Given the description of an element on the screen output the (x, y) to click on. 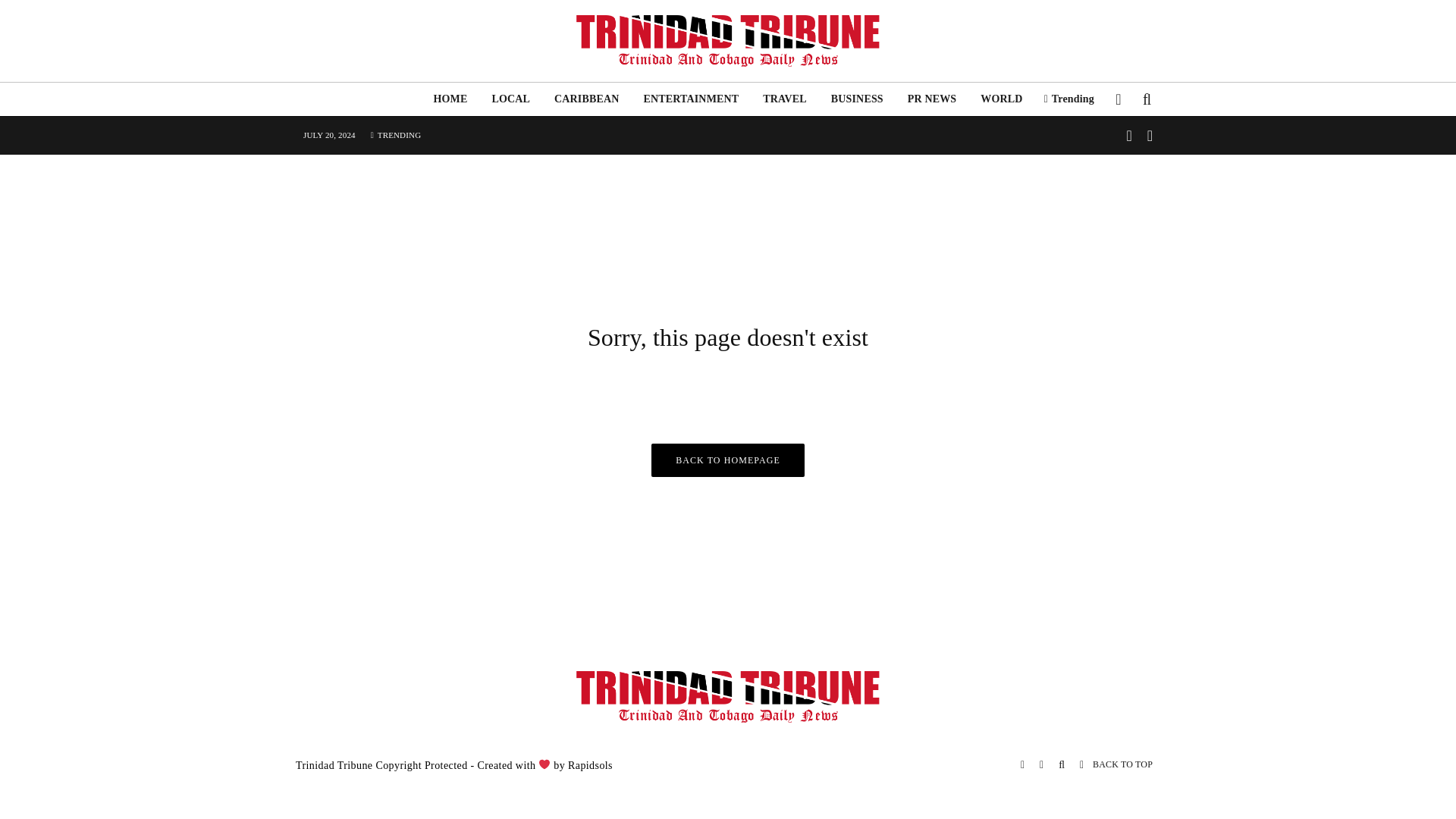
CARIBBEAN (585, 98)
ENTERTAINMENT (690, 98)
TRAVEL (784, 98)
HOME (449, 98)
LOCAL (510, 98)
